Given the description of an element on the screen output the (x, y) to click on. 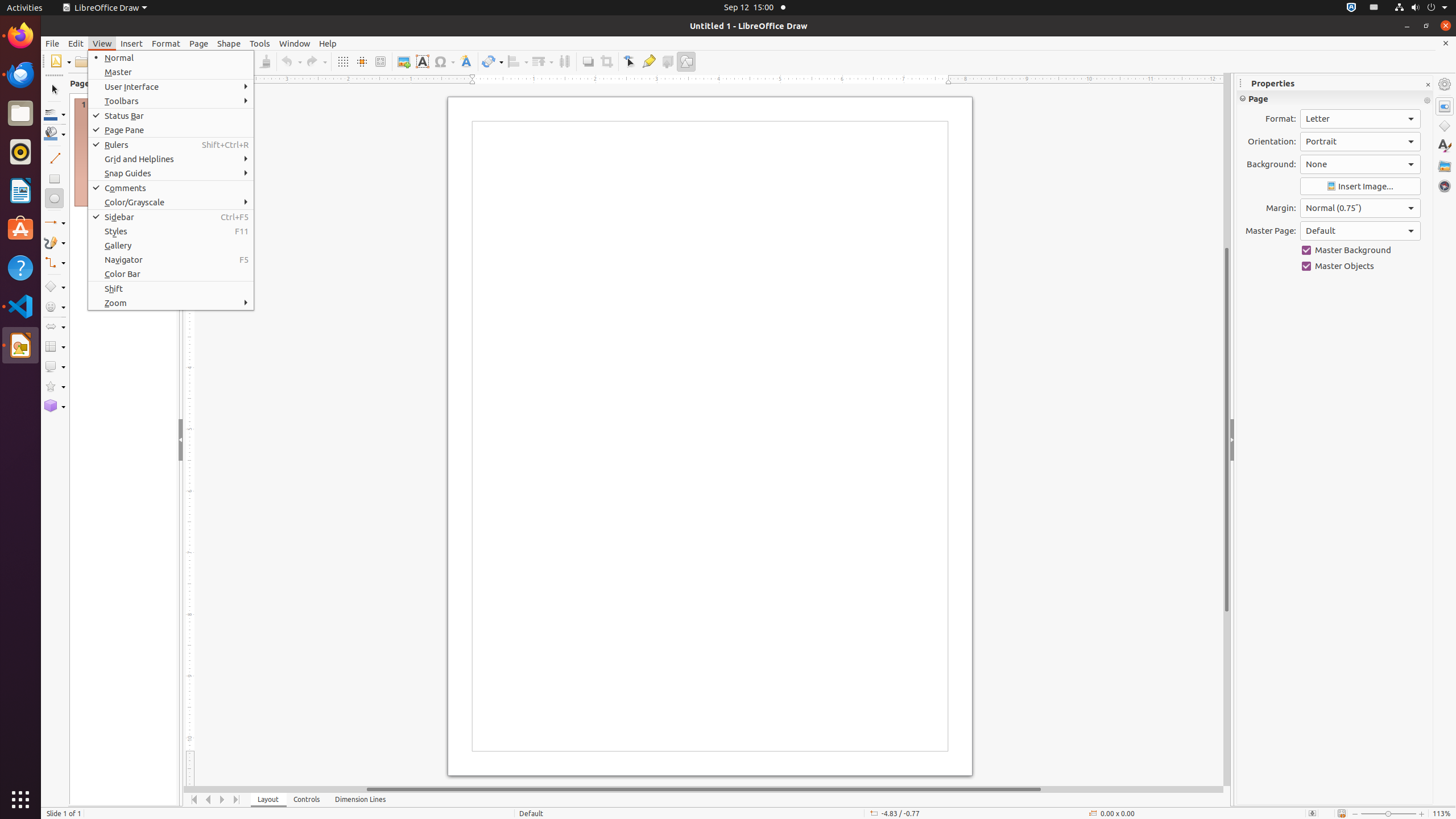
Page Pane Element type: check-menu-item (170, 129)
Dimension Lines Element type: page-tab (360, 799)
Gallery Element type: radio-button (1444, 165)
View Element type: menu (102, 43)
Insert Element type: menu (131, 43)
